Given the description of an element on the screen output the (x, y) to click on. 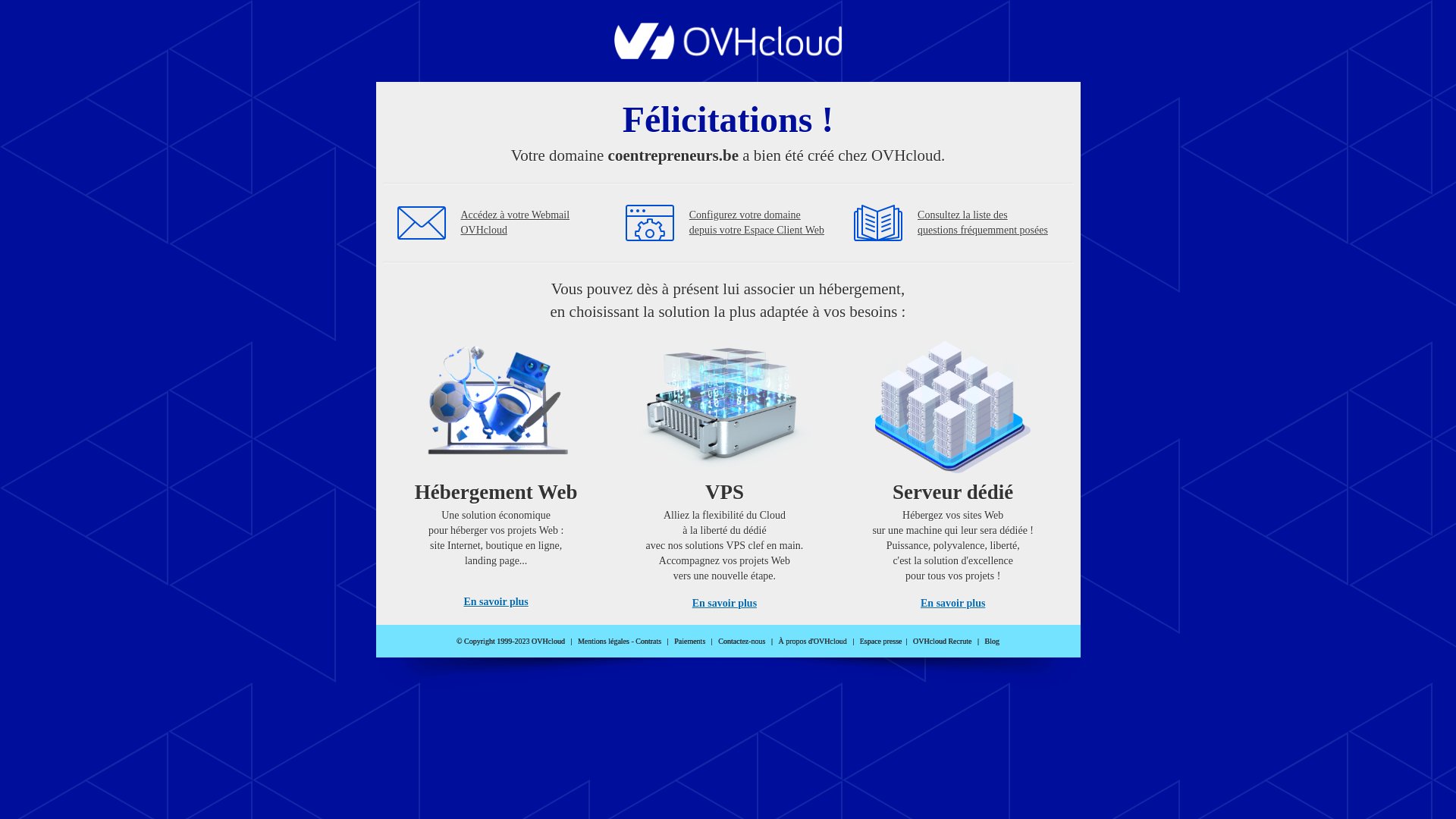
OVHcloud Recrute Element type: text (942, 641)
En savoir plus Element type: text (952, 602)
OVHcloud Element type: hover (727, 54)
Contactez-nous Element type: text (741, 641)
VPS Element type: hover (724, 469)
Espace presse Element type: text (880, 641)
Blog Element type: text (992, 641)
En savoir plus Element type: text (724, 602)
Configurez votre domaine
depuis votre Espace Client Web Element type: text (756, 222)
En savoir plus Element type: text (495, 601)
Paiements Element type: text (689, 641)
